Given the description of an element on the screen output the (x, y) to click on. 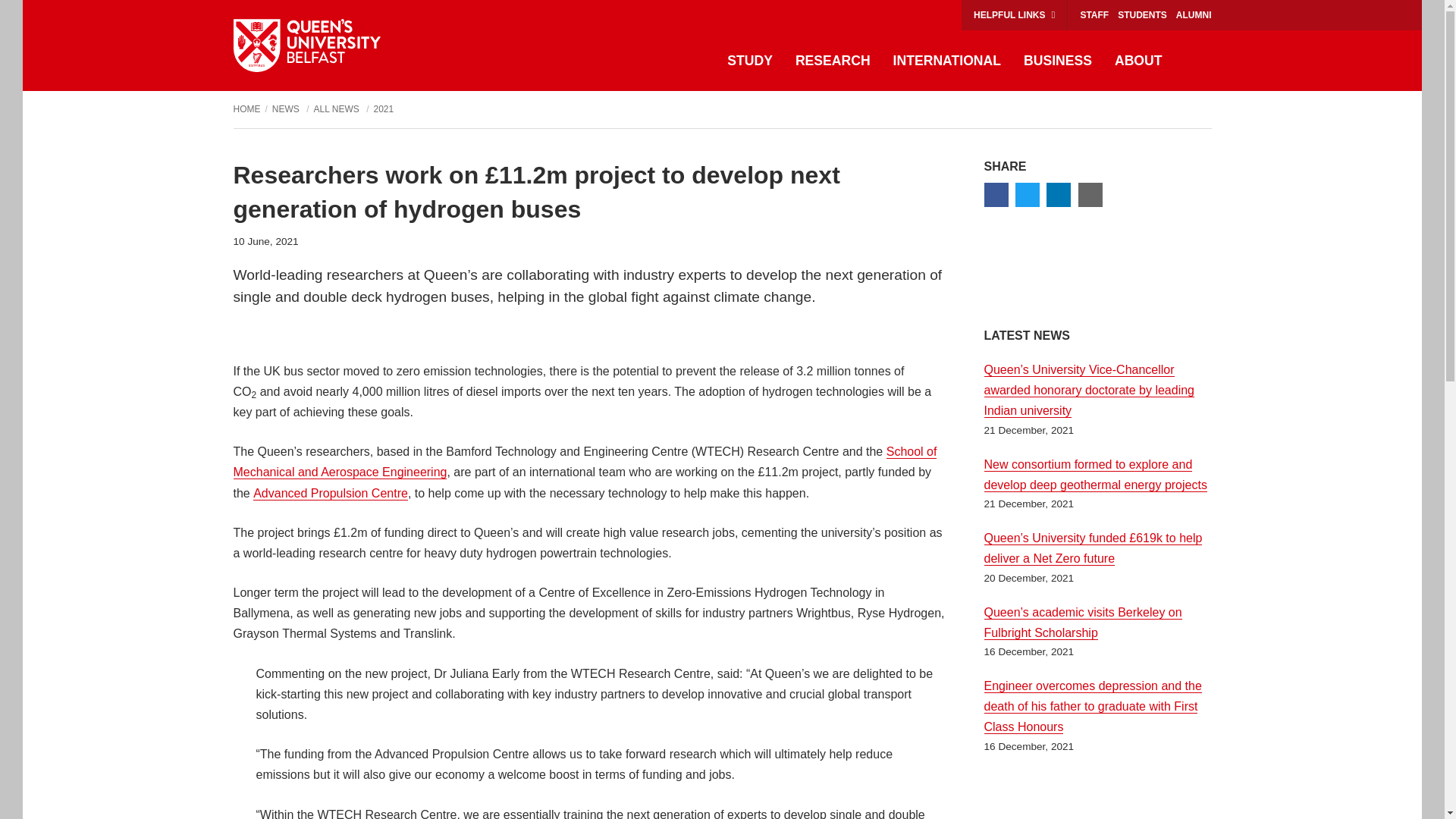
STUDENTS (1142, 15)
SKIP TO CONTENT (40, 15)
STUDY (750, 60)
STAFF (1094, 15)
HELPFUL LINKS (1013, 15)
RESEARCH (833, 60)
Queen's University Belfast (306, 45)
ALUMNI (1193, 15)
